Given the description of an element on the screen output the (x, y) to click on. 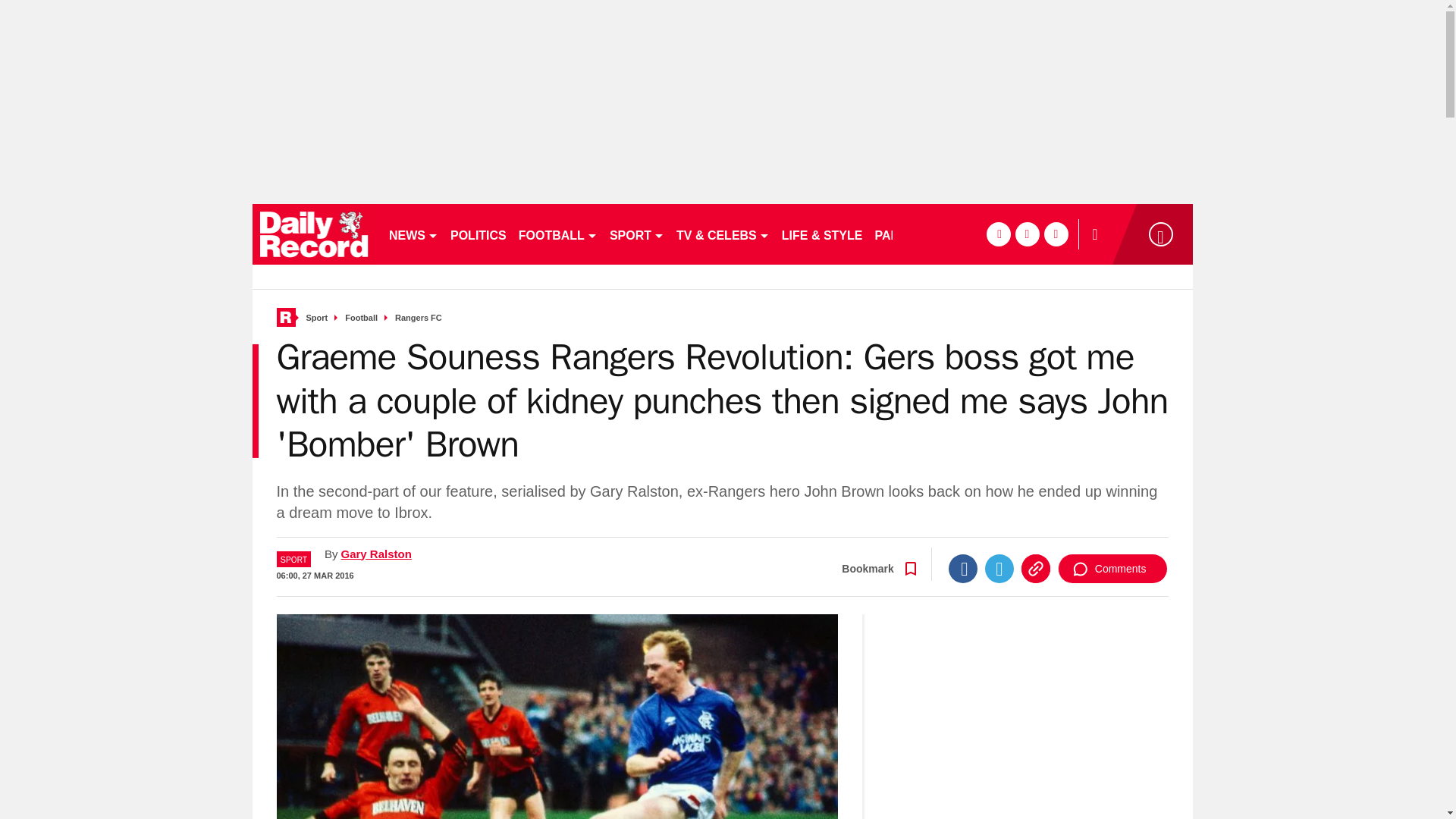
dailyrecord (313, 233)
POLITICS (478, 233)
FOOTBALL (558, 233)
facebook (997, 233)
Facebook (962, 568)
Comments (1112, 568)
Twitter (999, 568)
SPORT (636, 233)
instagram (1055, 233)
NEWS (413, 233)
twitter (1026, 233)
